Given the description of an element on the screen output the (x, y) to click on. 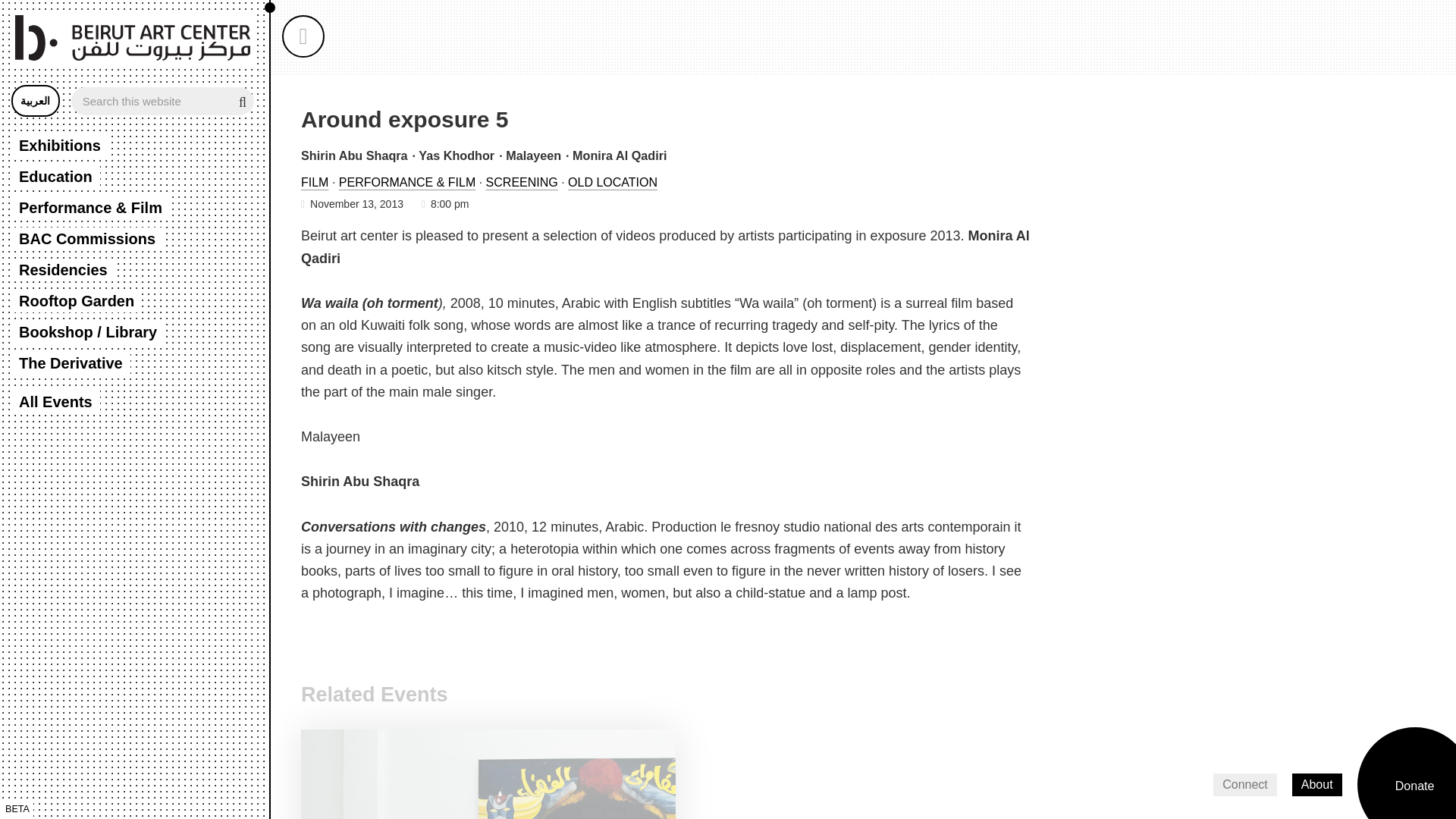
Residencies (63, 269)
SCREENING (521, 182)
The Derivative (71, 363)
bac-full-logo-black (132, 37)
Connect (1244, 784)
OLD LOCATION (612, 182)
All Events (55, 401)
Education (55, 176)
BAC Commissions (87, 238)
